Given the description of an element on the screen output the (x, y) to click on. 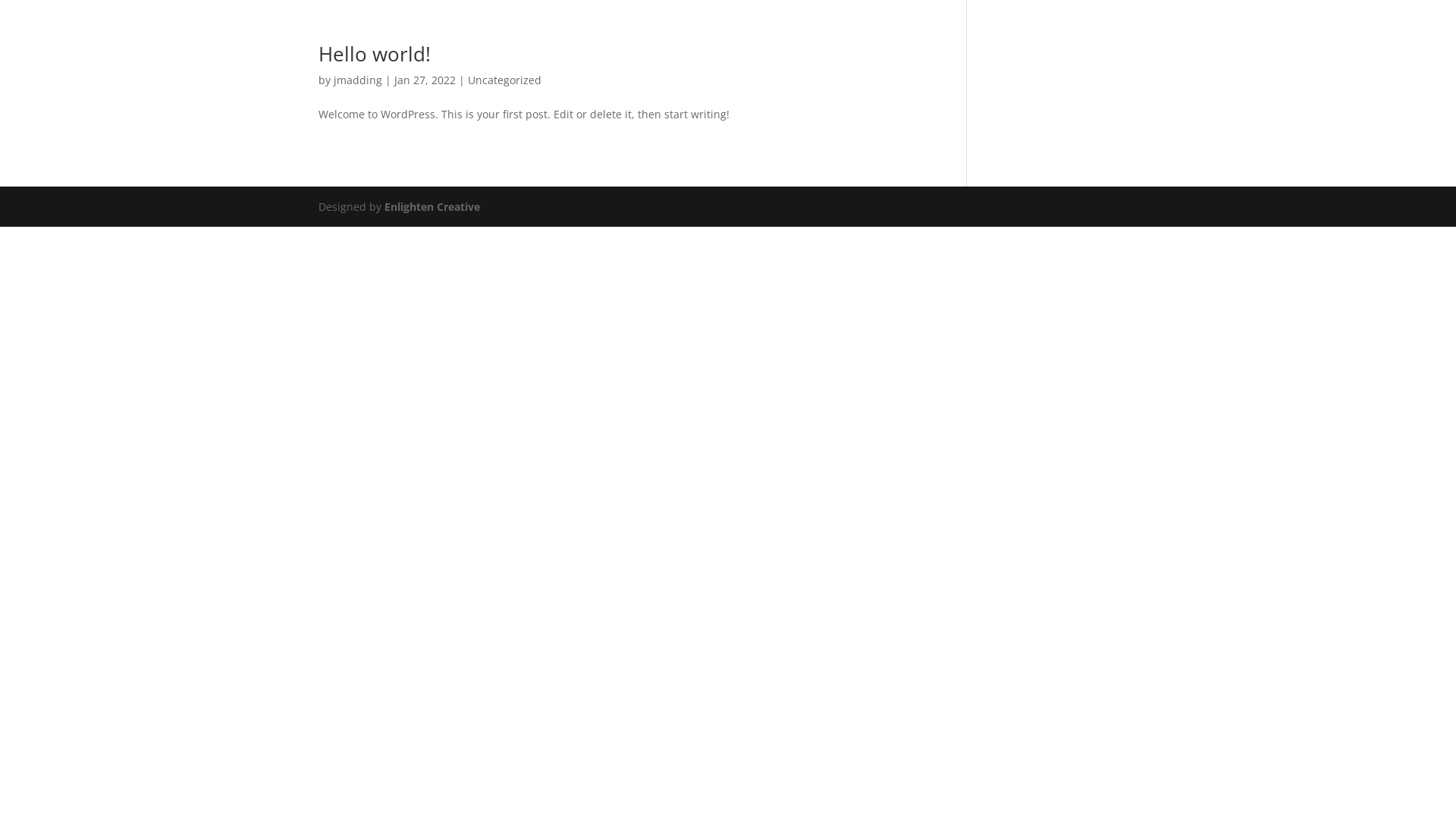
Enlighten Creative Element type: text (432, 206)
Uncategorized Element type: text (504, 79)
Hello world! Element type: text (374, 53)
jmadding Element type: text (357, 79)
